Given the description of an element on the screen output the (x, y) to click on. 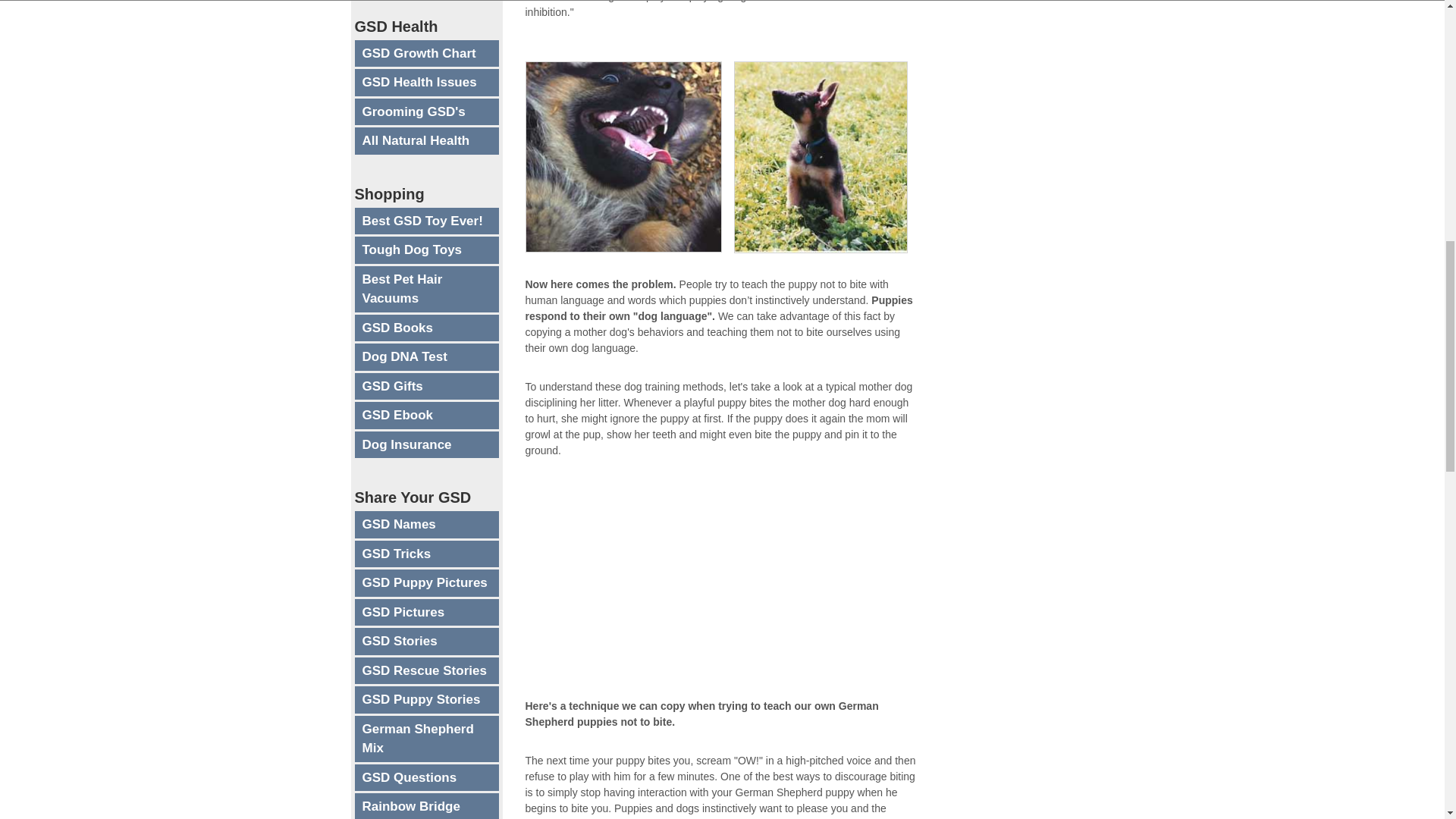
Best GSD Toy Ever! (427, 221)
German Shepherd Mix (427, 738)
GSD Questions (427, 777)
GSD Ebook (427, 415)
GSD Puppy Stories (427, 699)
Tough Dog Toys (427, 249)
GSD Names (427, 524)
GSD Stories (427, 641)
GSD Health Issues (427, 82)
GSD Puppy Pictures (427, 583)
